Given the description of an element on the screen output the (x, y) to click on. 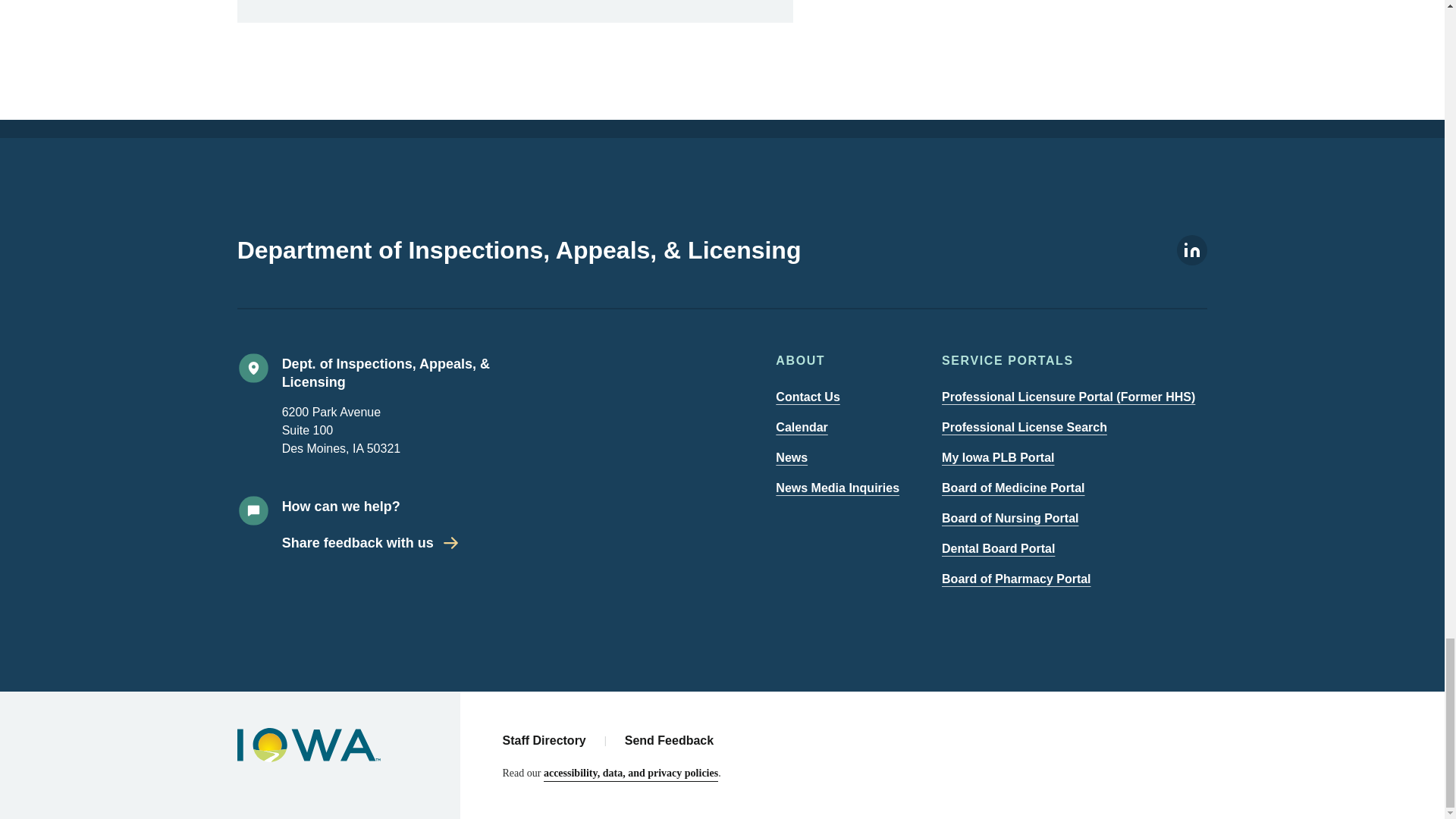
State of Iowa on LinkedIn (1191, 260)
